Given the description of an element on the screen output the (x, y) to click on. 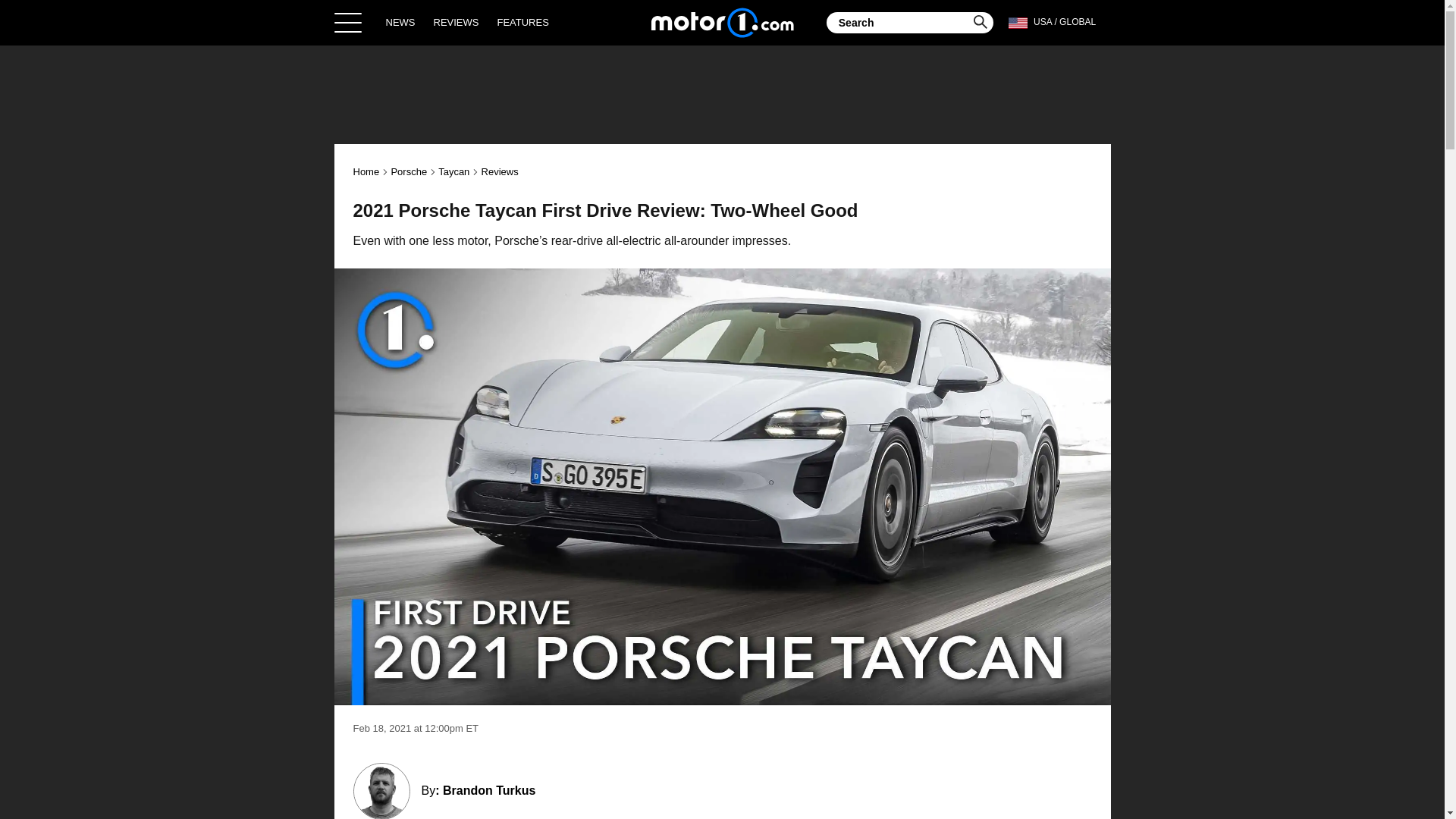
REVIEWS (456, 22)
Home (721, 22)
Porsche (408, 171)
FEATURES (522, 22)
Brandon Turkus (488, 789)
Reviews (499, 171)
NEWS (399, 22)
Taycan (453, 171)
Home (366, 171)
